Given the description of an element on the screen output the (x, y) to click on. 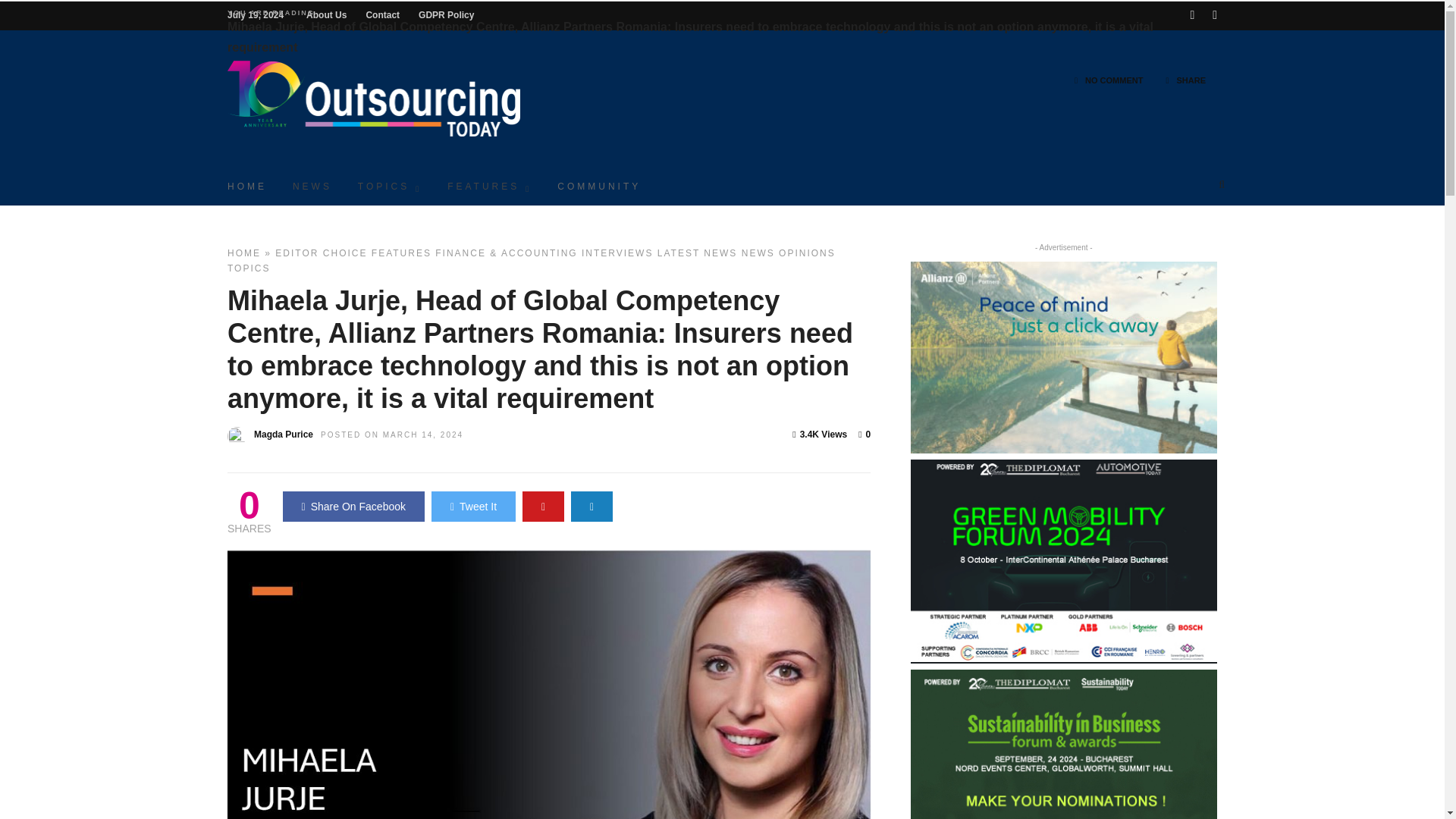
Share by Email (591, 506)
Contact (381, 14)
Share On Twitter (472, 506)
NEWS (312, 185)
GDPR Policy (446, 14)
About Us (325, 14)
HOME (243, 253)
COMMUNITY (599, 185)
EDITOR CHOICE (320, 253)
Share On Pinterest (543, 506)
FEATURES (489, 185)
HOME (246, 185)
TOPICS (389, 185)
Share On Facebook (353, 506)
